Given the description of an element on the screen output the (x, y) to click on. 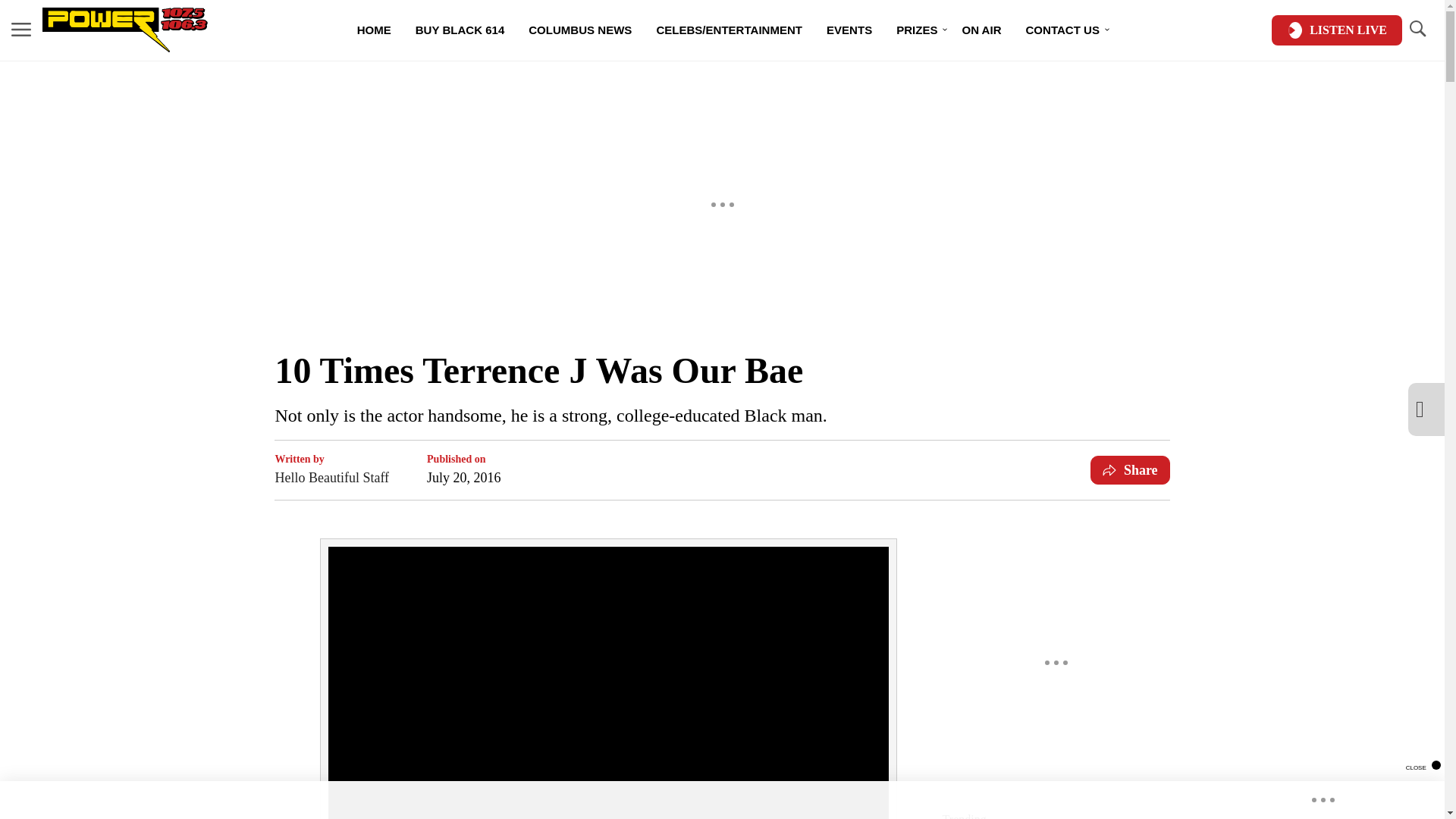
EVENTS (848, 30)
TOGGLE SEARCH (1417, 30)
ON AIR (981, 30)
LISTEN LIVE (1336, 30)
TOGGLE SEARCH (1417, 28)
HOME (374, 30)
COLUMBUS NEWS (579, 30)
MENU (20, 29)
Hello Beautiful Staff (331, 477)
BUY BLACK 614 (459, 30)
CONTACT US (1062, 30)
PRIZES (916, 30)
MENU (20, 30)
Share (1130, 469)
